Given the description of an element on the screen output the (x, y) to click on. 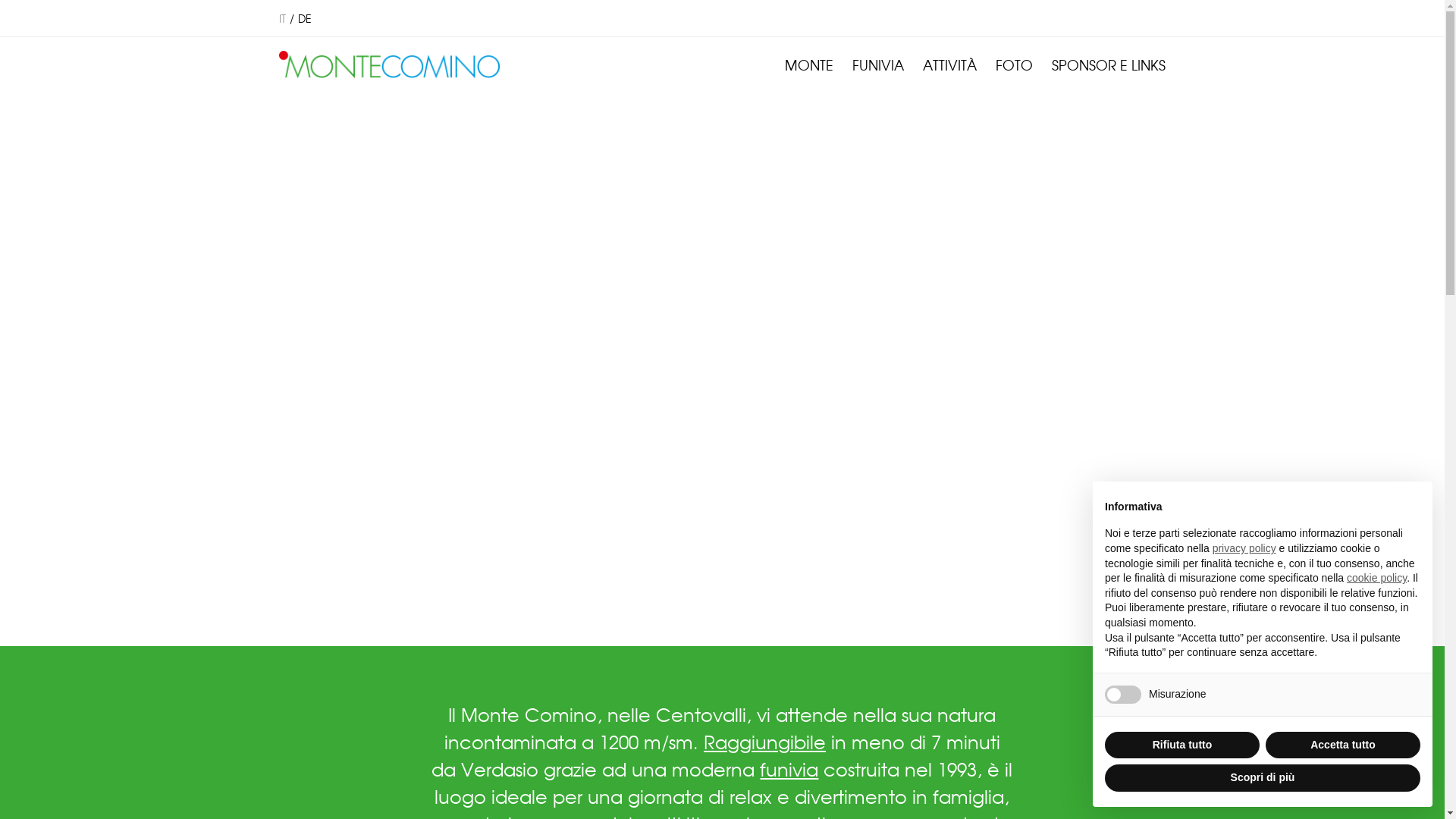
DE Element type: text (303, 17)
Rifiuta tutto Element type: text (1181, 745)
cookie policy Element type: text (1376, 577)
FUNIVIA Element type: text (877, 64)
privacy policy Element type: text (1244, 548)
funivia Element type: text (788, 768)
MONTE Element type: text (808, 64)
FOTO Element type: text (1013, 64)
IT Element type: text (282, 17)
SPONSOR E LINKS Element type: text (1108, 64)
Raggiungibile Element type: text (764, 741)
Accetta tutto Element type: text (1342, 745)
